Given the description of an element on the screen output the (x, y) to click on. 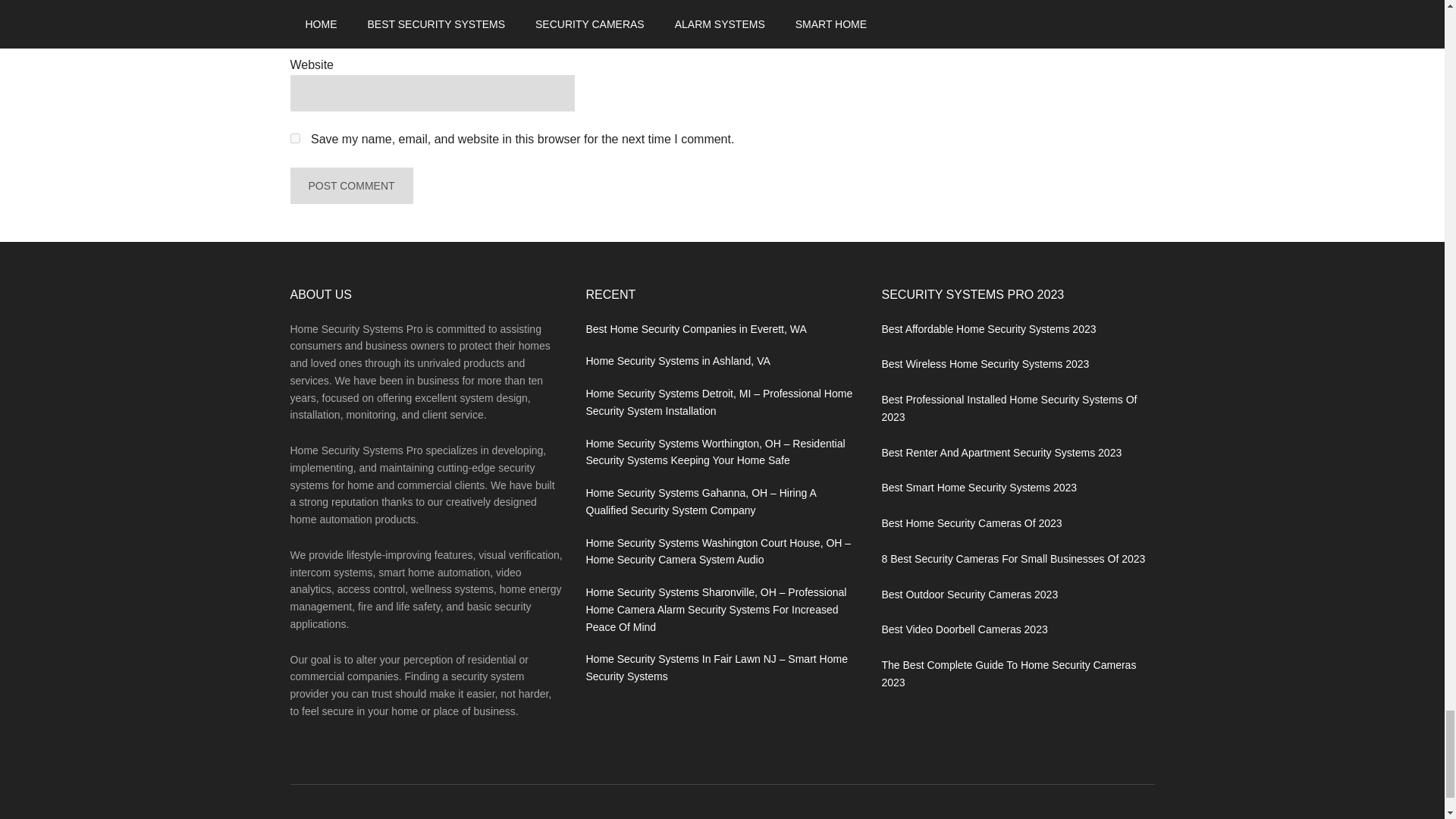
Post Comment (350, 185)
Post Comment (350, 185)
yes (294, 138)
